Given the description of an element on the screen output the (x, y) to click on. 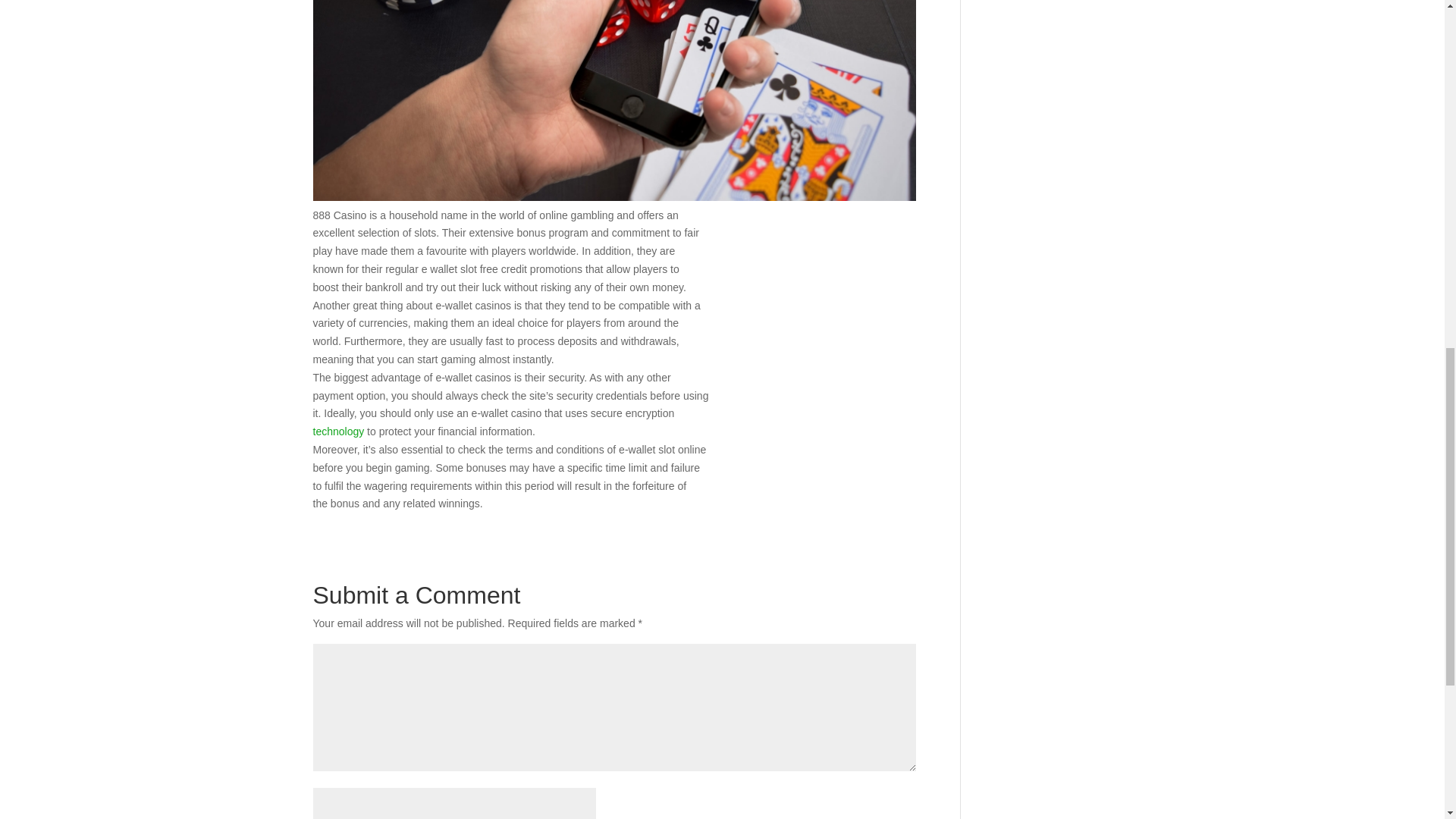
technology (338, 431)
